Given the description of an element on the screen output the (x, y) to click on. 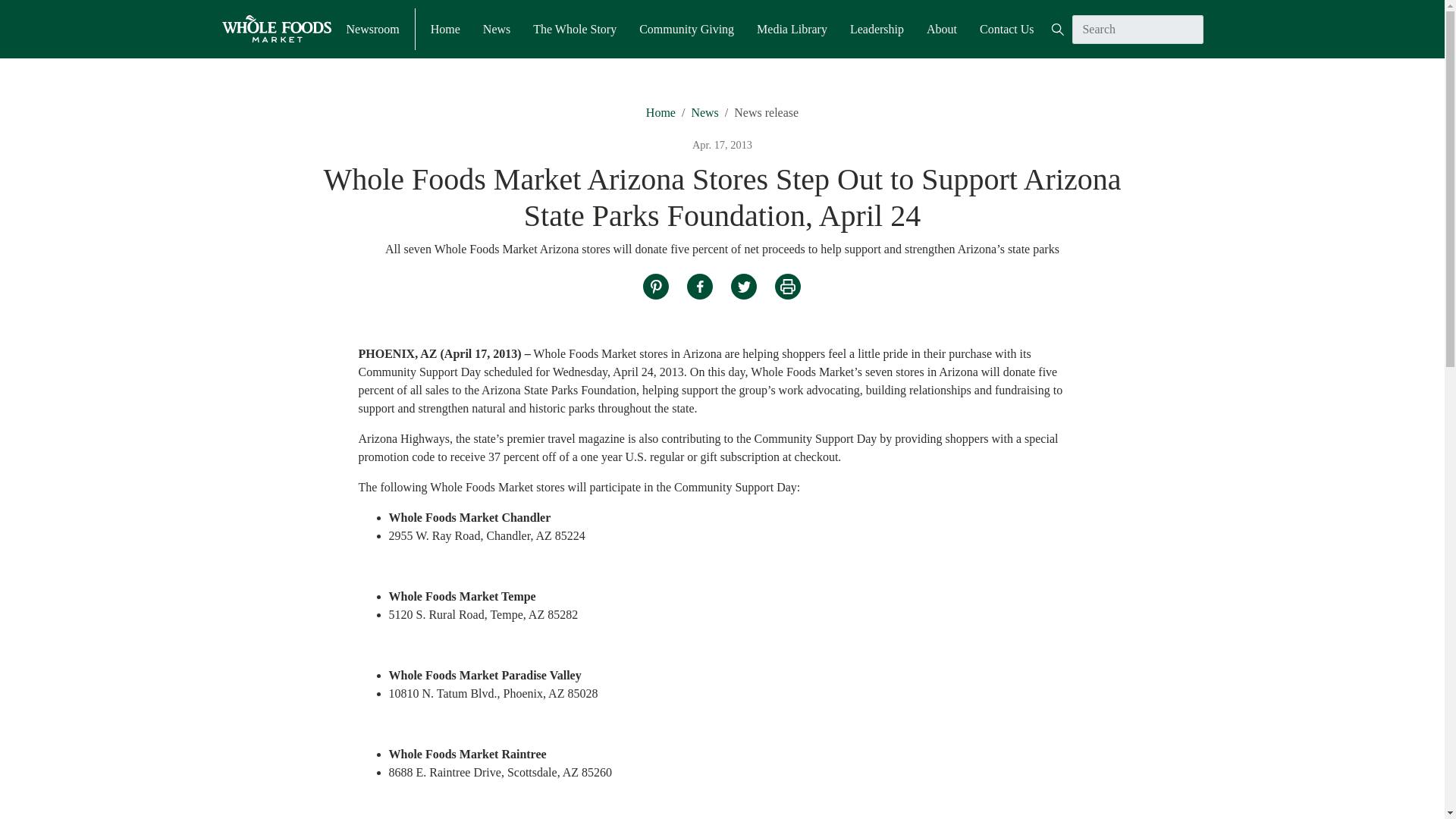
Whole Foods Market (275, 29)
About (941, 28)
Home (445, 28)
News (703, 112)
Community Giving (686, 28)
Home (660, 112)
Media Library (792, 28)
Leadership (877, 28)
Contact Us (1006, 28)
News (497, 28)
The Whole Story (573, 28)
